Given the description of an element on the screen output the (x, y) to click on. 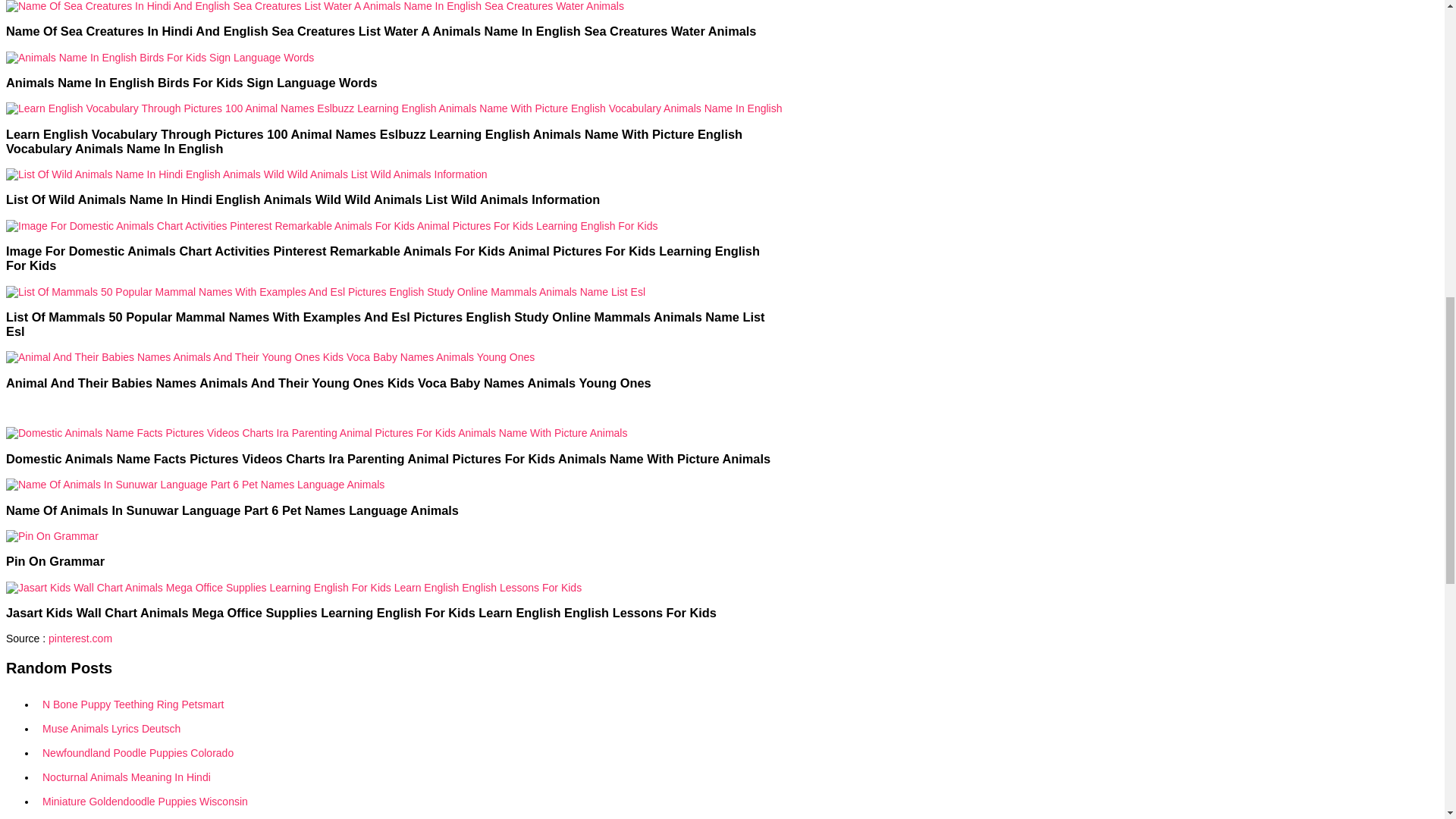
Nocturnal Animals Meaning In Hindi (409, 776)
pinterest.com (80, 638)
Newfoundland Poodle Puppies Colorado (409, 752)
Muse Animals Lyrics Deutsch (409, 728)
N Bone Puppy Teething Ring Petsmart (409, 704)
Miniature Goldendoodle Puppies Wisconsin (409, 801)
